Given the description of an element on the screen output the (x, y) to click on. 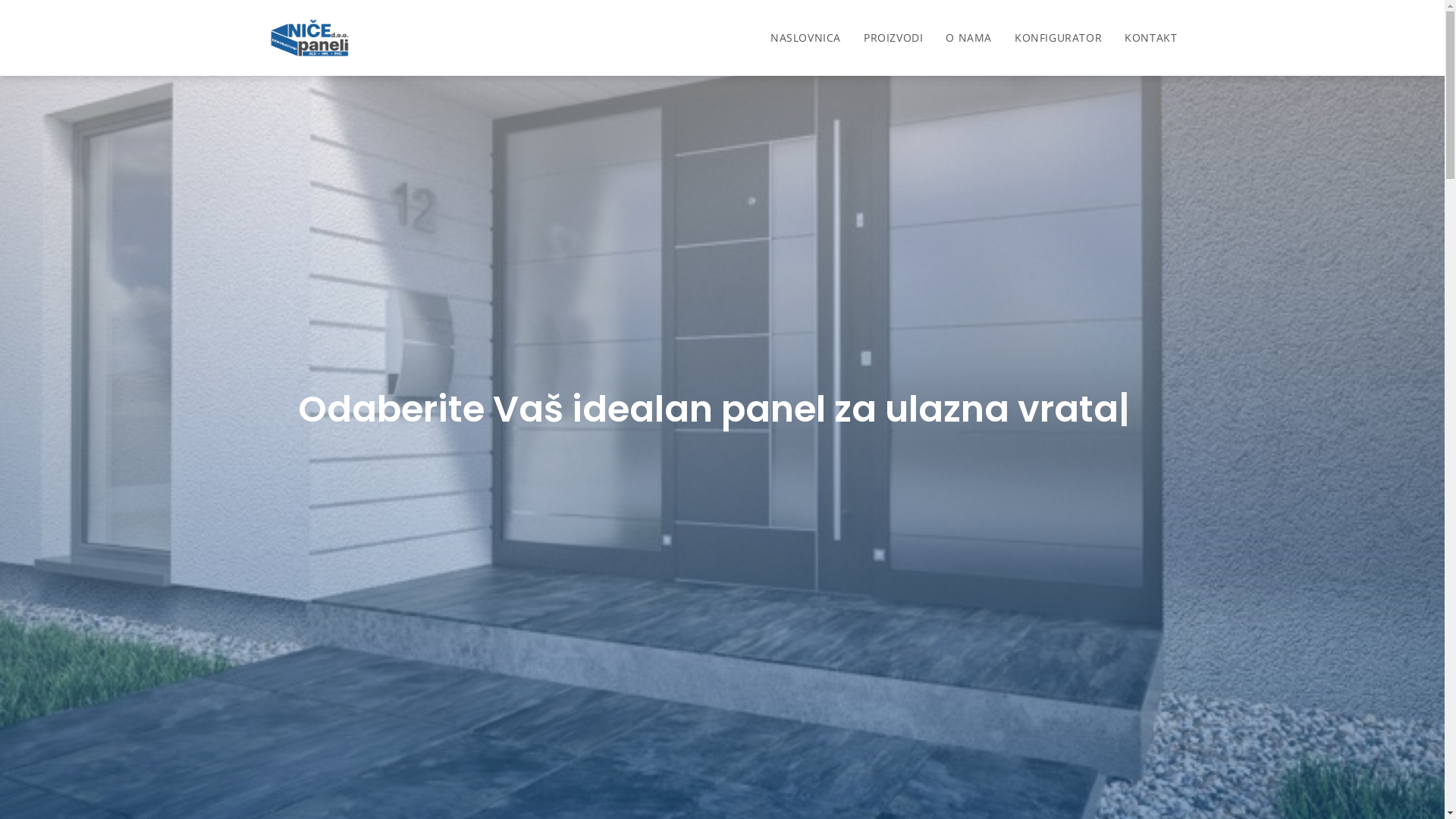
KONFIGURATOR Element type: text (1058, 37)
O NAMA Element type: text (968, 37)
PROIZVODI Element type: text (893, 37)
NASLOVNICA Element type: text (805, 37)
KONTAKT Element type: text (1150, 37)
